Given the description of an element on the screen output the (x, y) to click on. 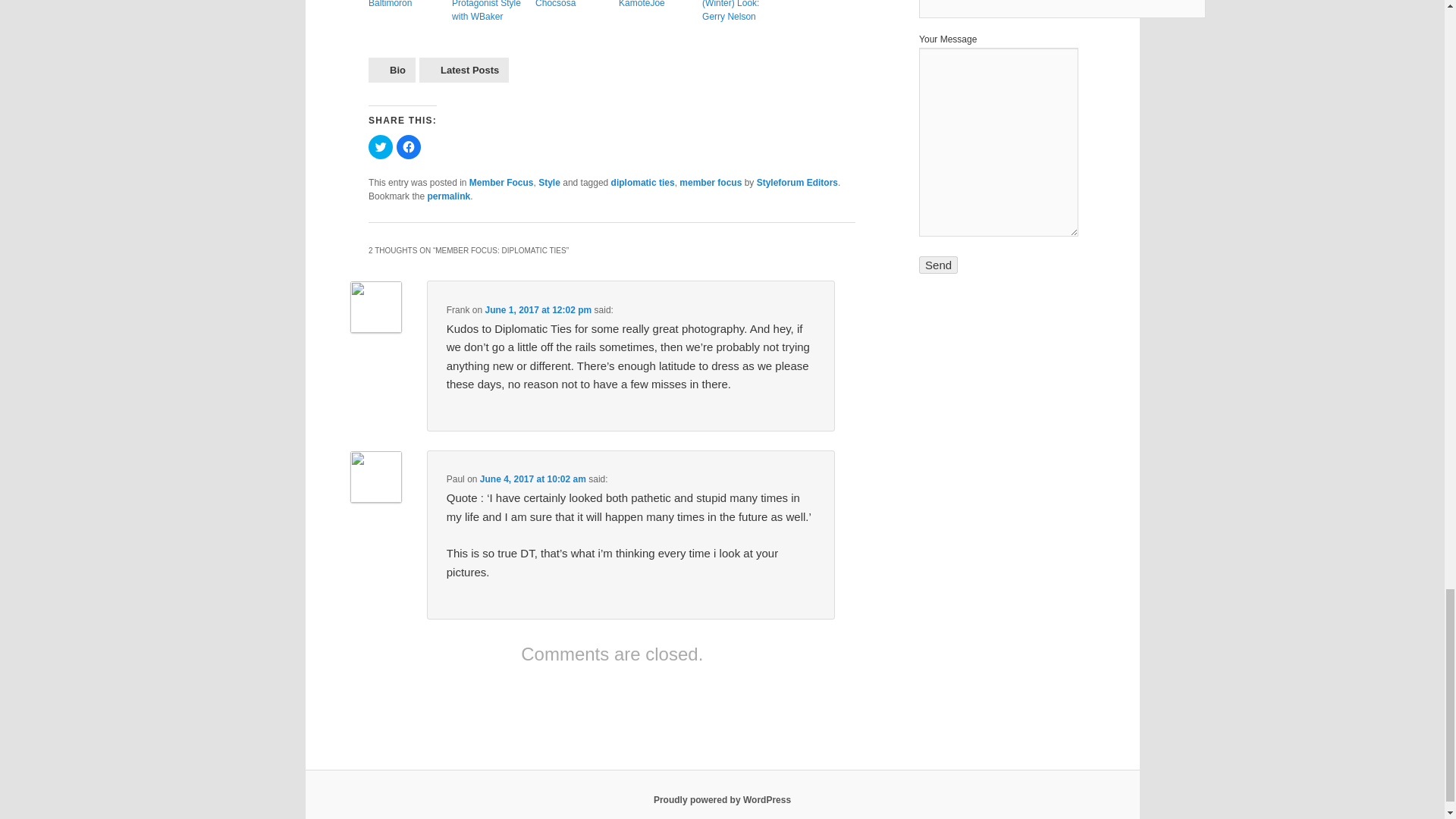
Permalink to Member Focus: Diplomatic Ties (448, 195)
Click to share on Twitter (380, 146)
Semantic Personal Publishing Platform (721, 799)
Member Focus: Chocsosa (573, 4)
Member Focus: Protagonist Style with WBaker (489, 11)
Send (938, 264)
Click to share on Facebook (408, 146)
Member Focus: Baltimoron (406, 4)
